Given the description of an element on the screen output the (x, y) to click on. 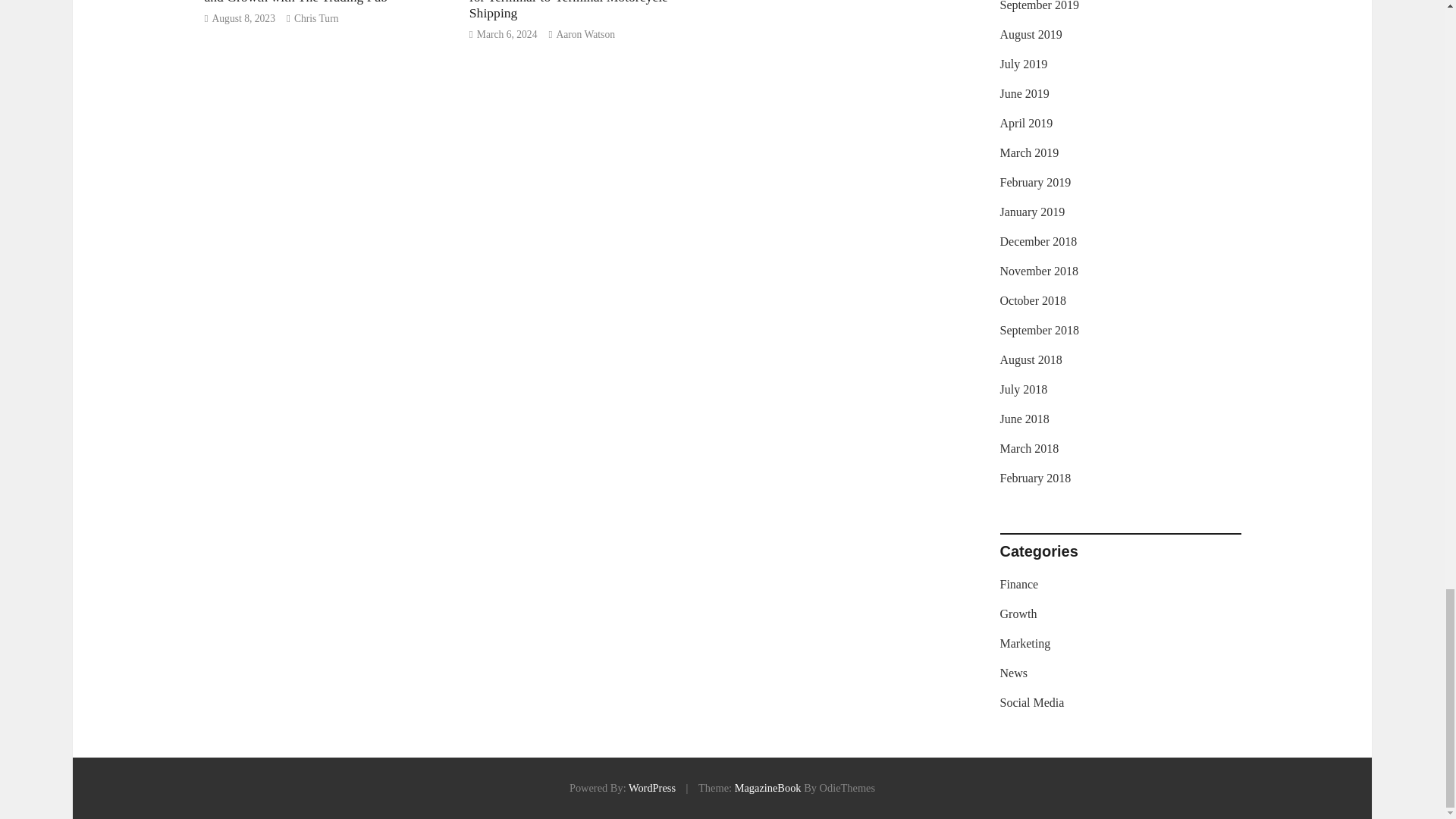
Aaron Watson (585, 34)
March 6, 2024 (507, 34)
August 8, 2023 (243, 18)
Chris Turn (316, 18)
